Given the description of an element on the screen output the (x, y) to click on. 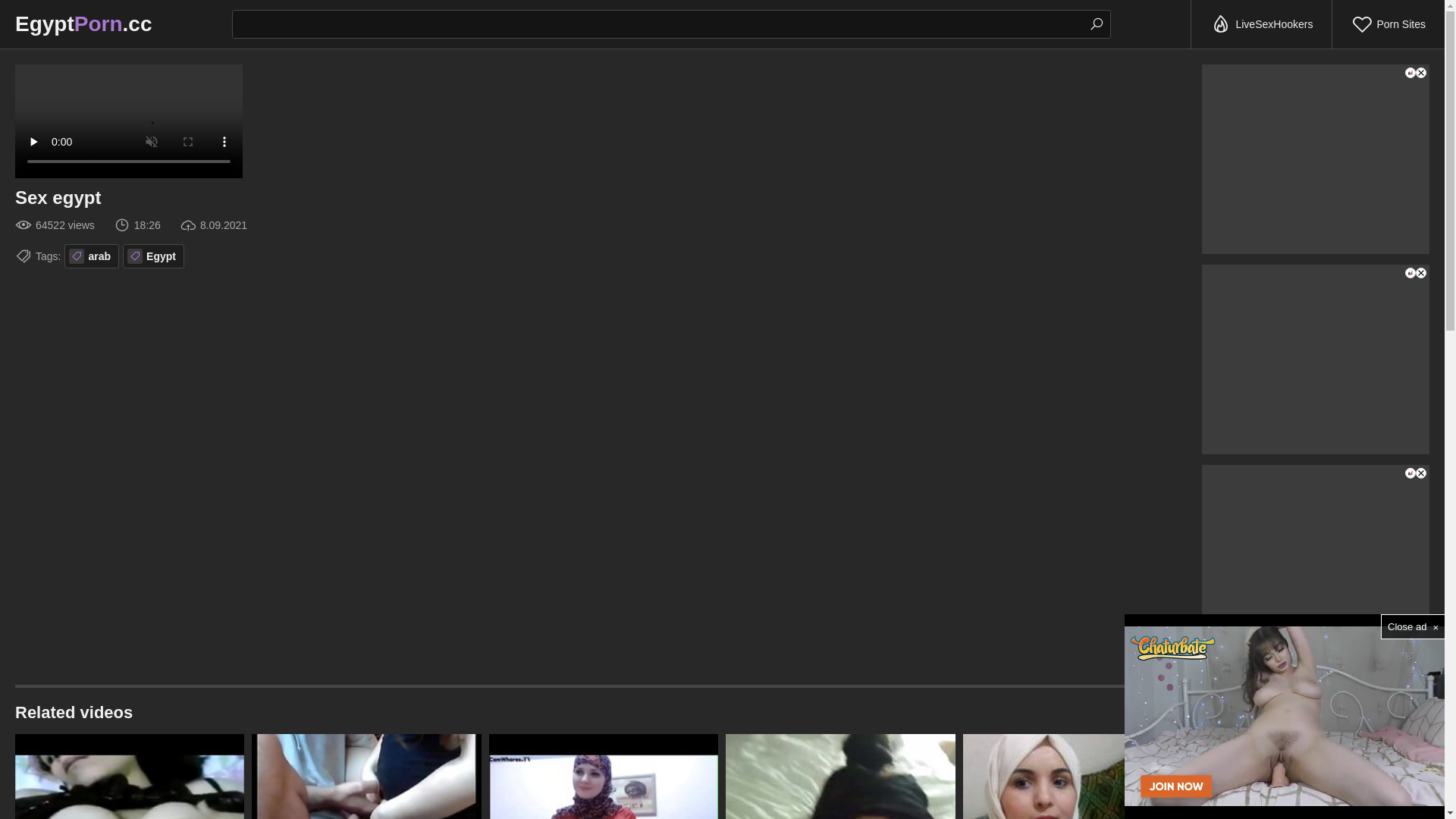
Porn Sites Element type: text (1388, 24)
arab Element type: text (91, 256)
Find Element type: hover (1096, 24)
Egypt Element type: text (153, 256)
LiveSexHookers Element type: text (1261, 24)
EgyptPorn.cc Element type: text (83, 23)
